Given the description of an element on the screen output the (x, y) to click on. 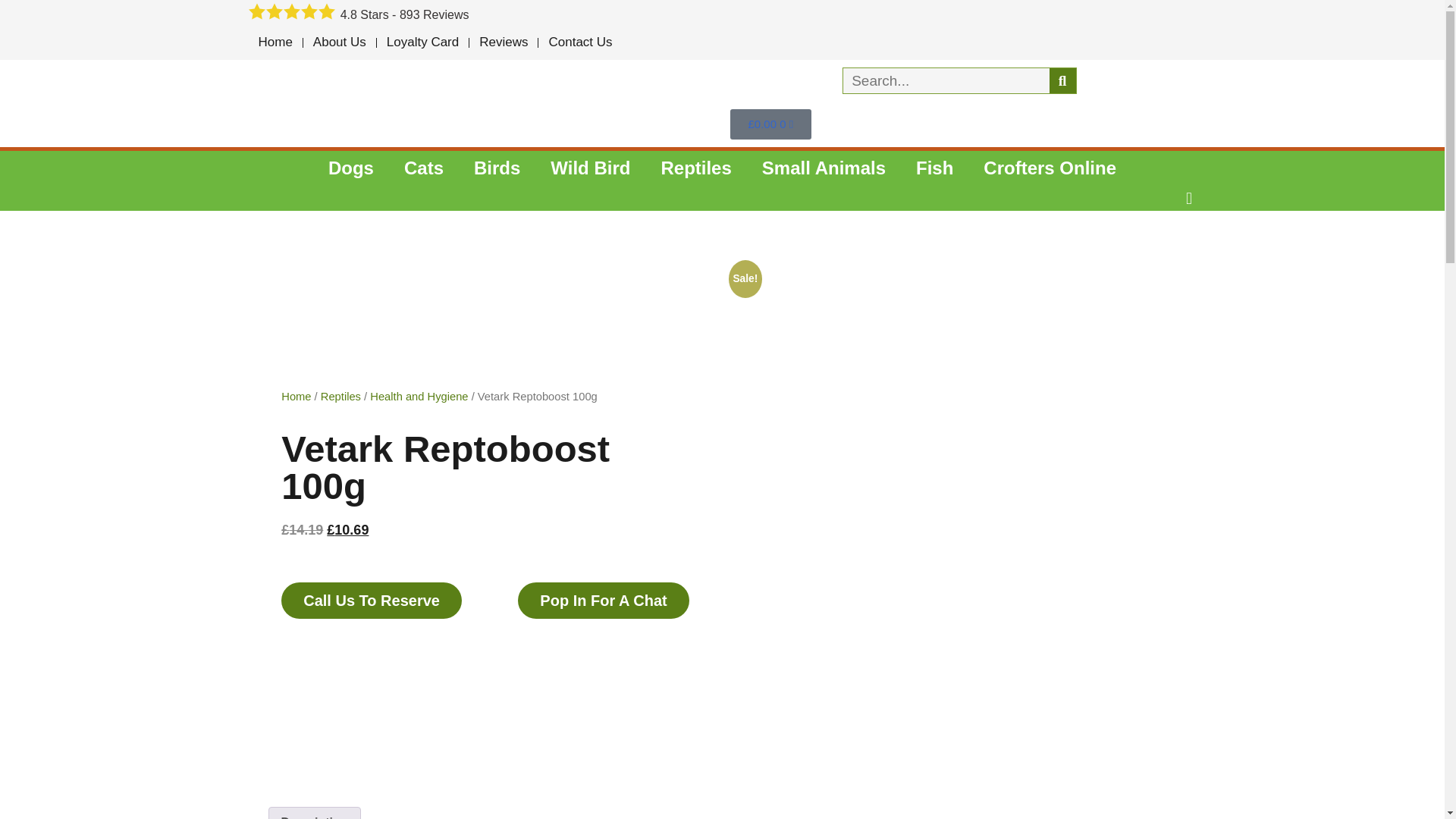
Home (275, 42)
Reviews (502, 42)
About Us (338, 42)
Loyalty Card (422, 42)
Contact Us (579, 42)
Dogs (350, 167)
